Given the description of an element on the screen output the (x, y) to click on. 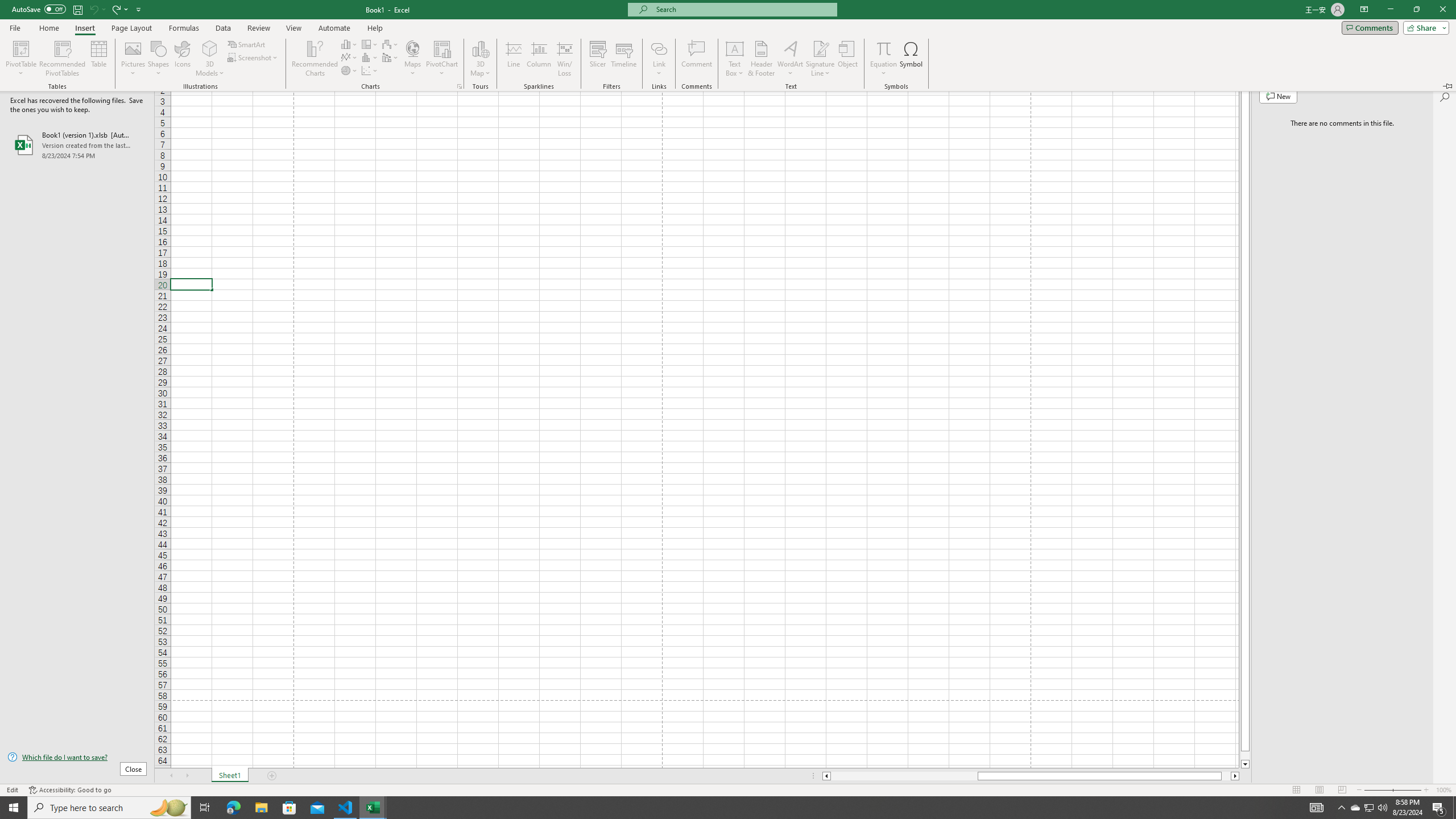
Start (13, 807)
Task View (204, 807)
Excel - 2 running windows (373, 807)
